Given the description of an element on the screen output the (x, y) to click on. 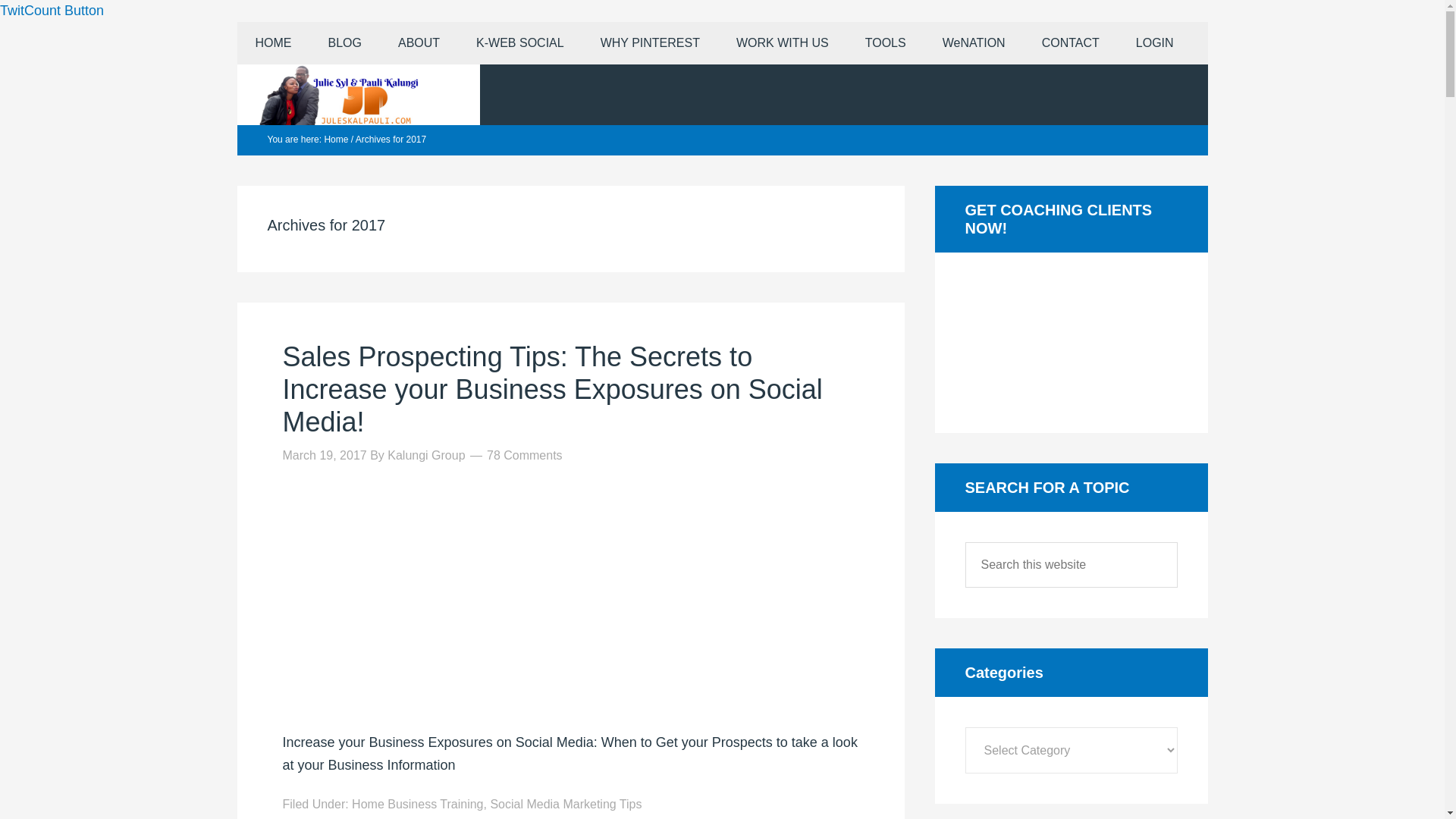
Kalungi Group (425, 454)
LOGIN (1155, 43)
WHY PINTEREST (649, 43)
TwitCount Button (51, 10)
CONTACT (1070, 43)
Home (335, 139)
Home Business Training (417, 803)
TOOLS (885, 43)
ABOUT (419, 43)
BLOG (343, 43)
Social Media Marketing Tips (565, 803)
HOME (271, 43)
